Given the description of an element on the screen output the (x, y) to click on. 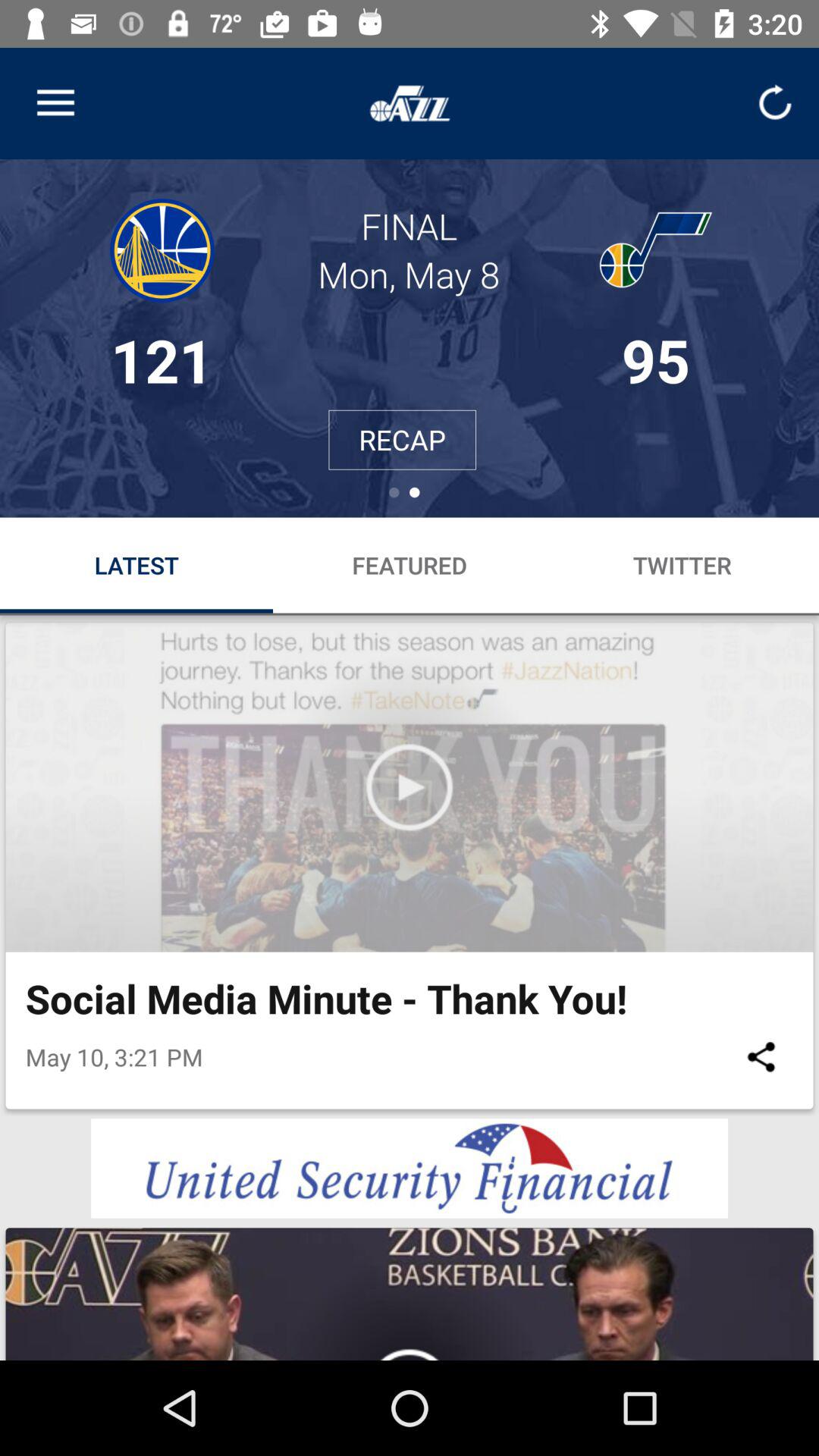
click on the share icon (761, 1057)
go to website name right side to menu icon (409, 103)
click on refresh option below time (774, 103)
select the video above the text social media minute (409, 787)
